Given the description of an element on the screen output the (x, y) to click on. 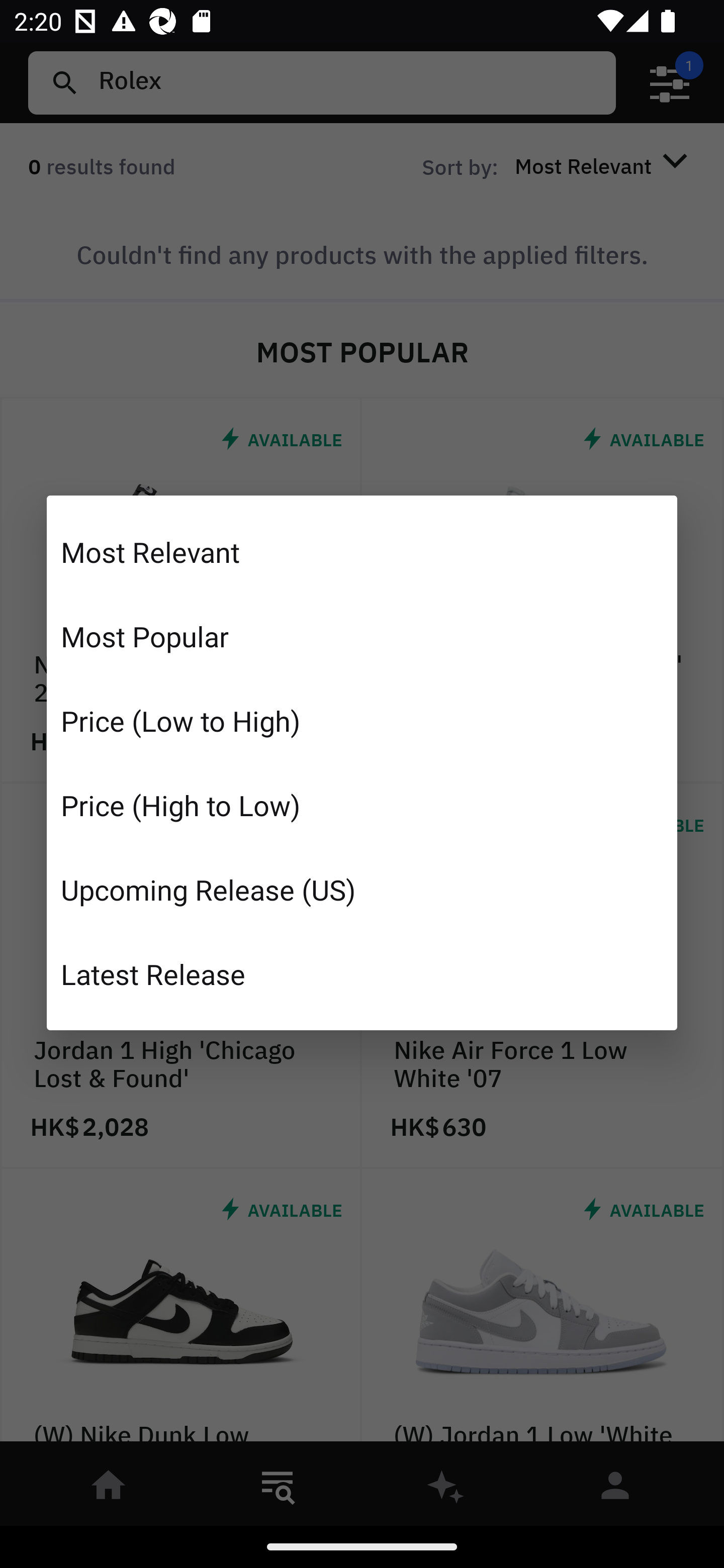
Most Relevant (361, 551)
Most Popular (361, 636)
Price (Low to High) (361, 720)
Price (High to Low) (361, 804)
Upcoming Release (US) (361, 888)
Latest Release (361, 973)
